Given the description of an element on the screen output the (x, y) to click on. 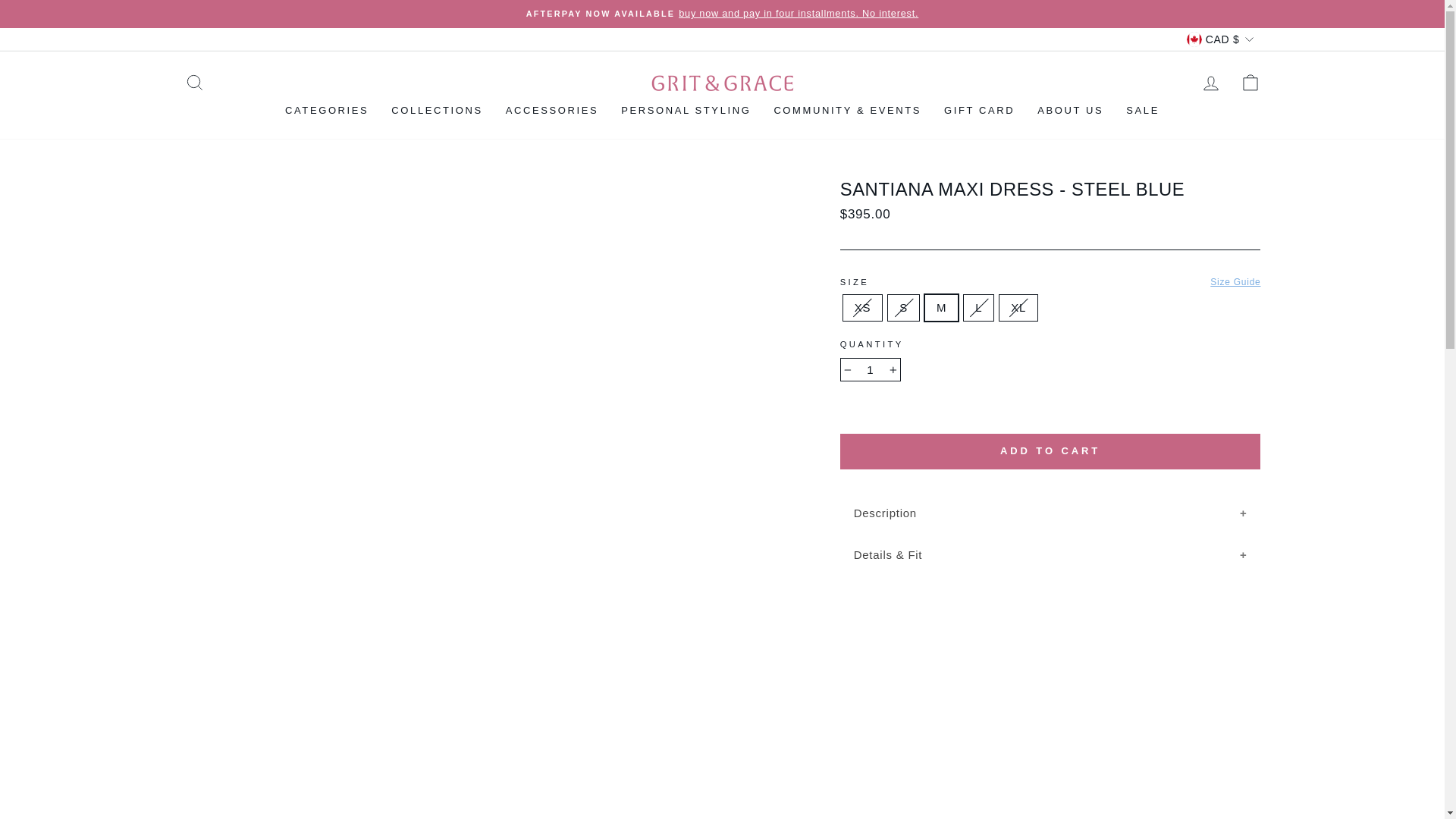
1 (870, 369)
